Given the description of an element on the screen output the (x, y) to click on. 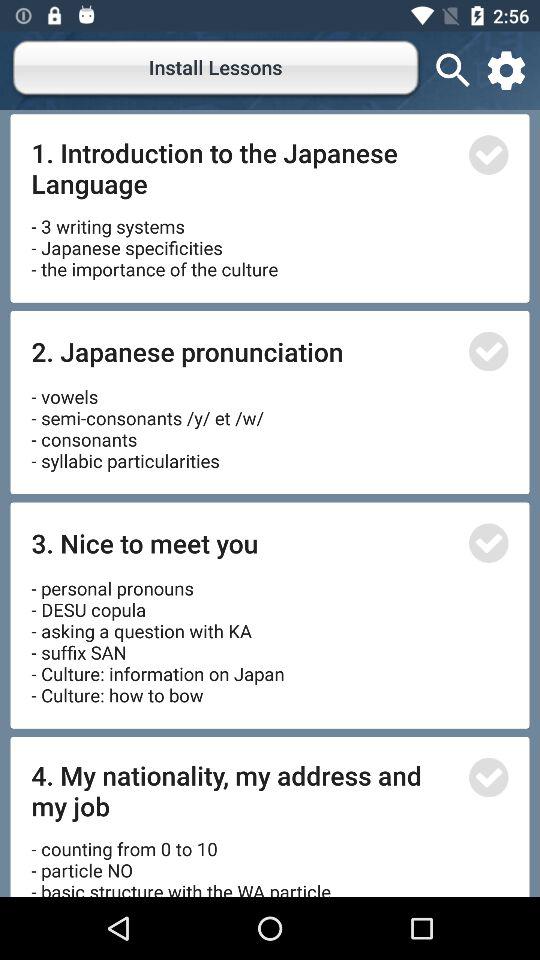
flip to the install lessons (216, 70)
